Given the description of an element on the screen output the (x, y) to click on. 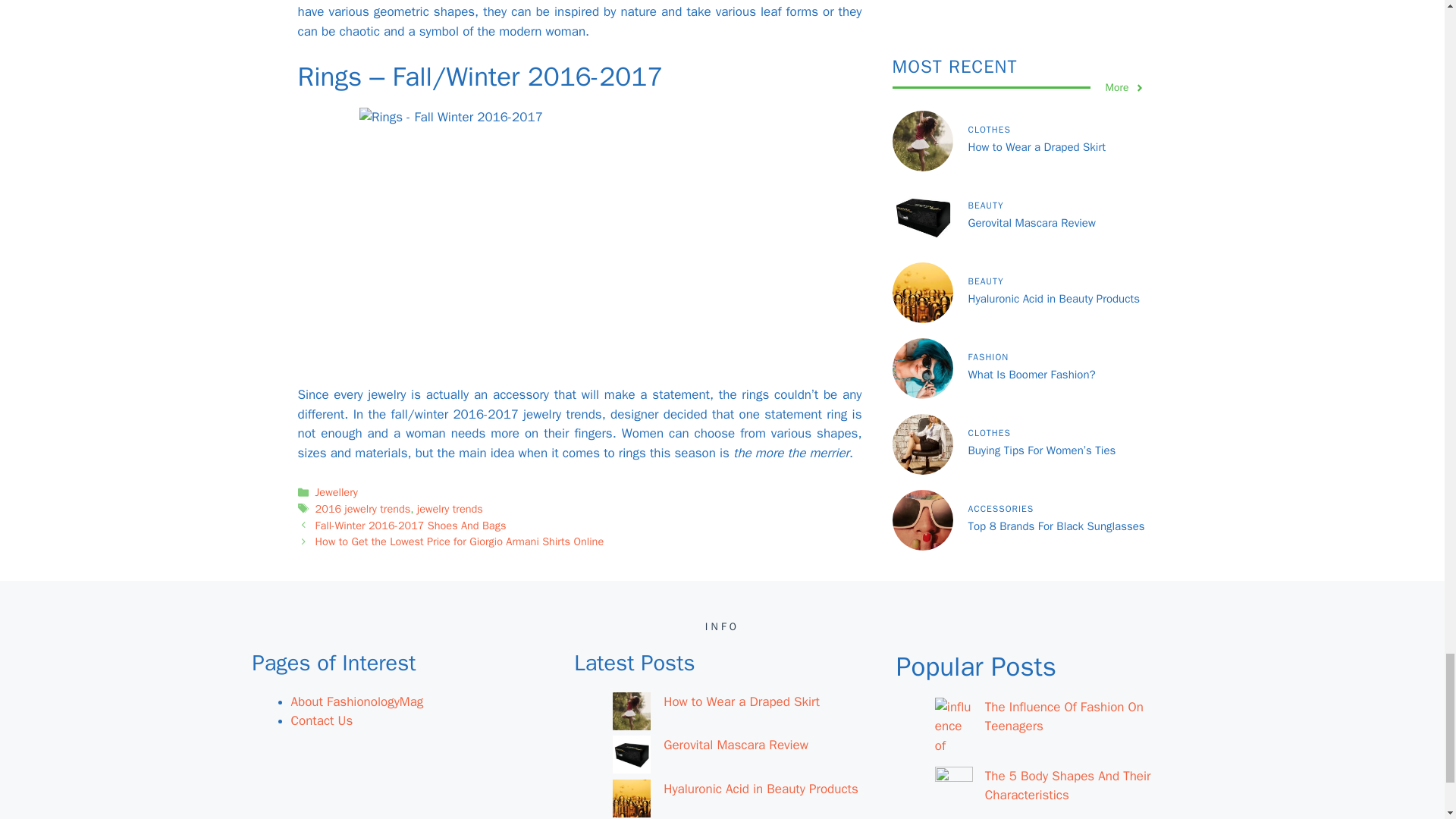
2016 jewelry trends (362, 508)
Jewellery (336, 491)
How to Get the Lowest Price for Giorgio Armani Shirts Online (459, 540)
About FashionologyMag (357, 701)
Contact Us (322, 720)
jewelry trends (449, 508)
How to Wear a Draped Skirt (741, 701)
Fall-Winter 2016-2017 Shoes And Bags (410, 525)
